Given the description of an element on the screen output the (x, y) to click on. 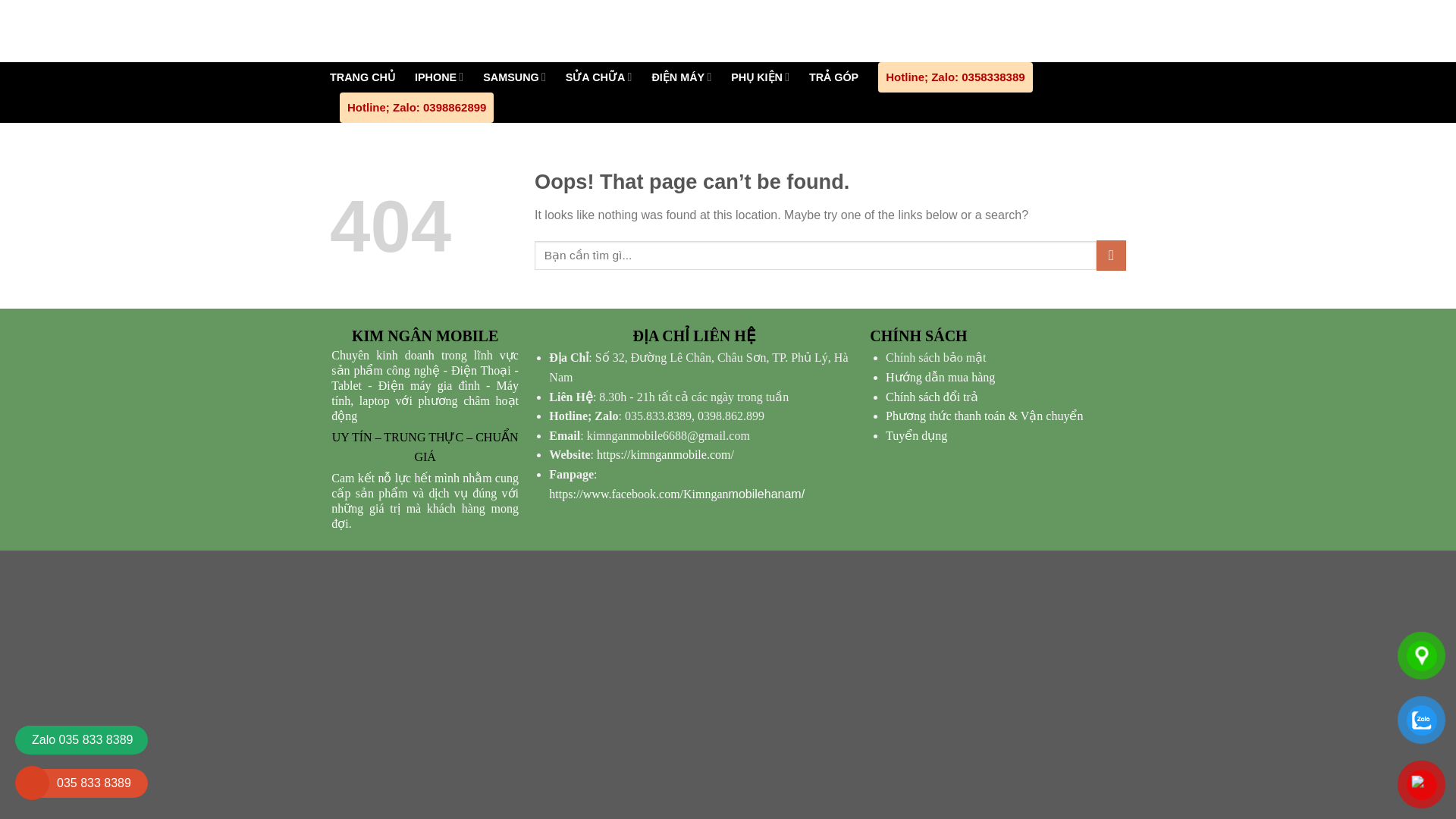
SAMSUNG (514, 76)
Hotline; Zalo: 0358338389 (954, 77)
IPHONE (438, 76)
Hotline; Zalo: 0398862899 (416, 107)
